Given the description of an element on the screen output the (x, y) to click on. 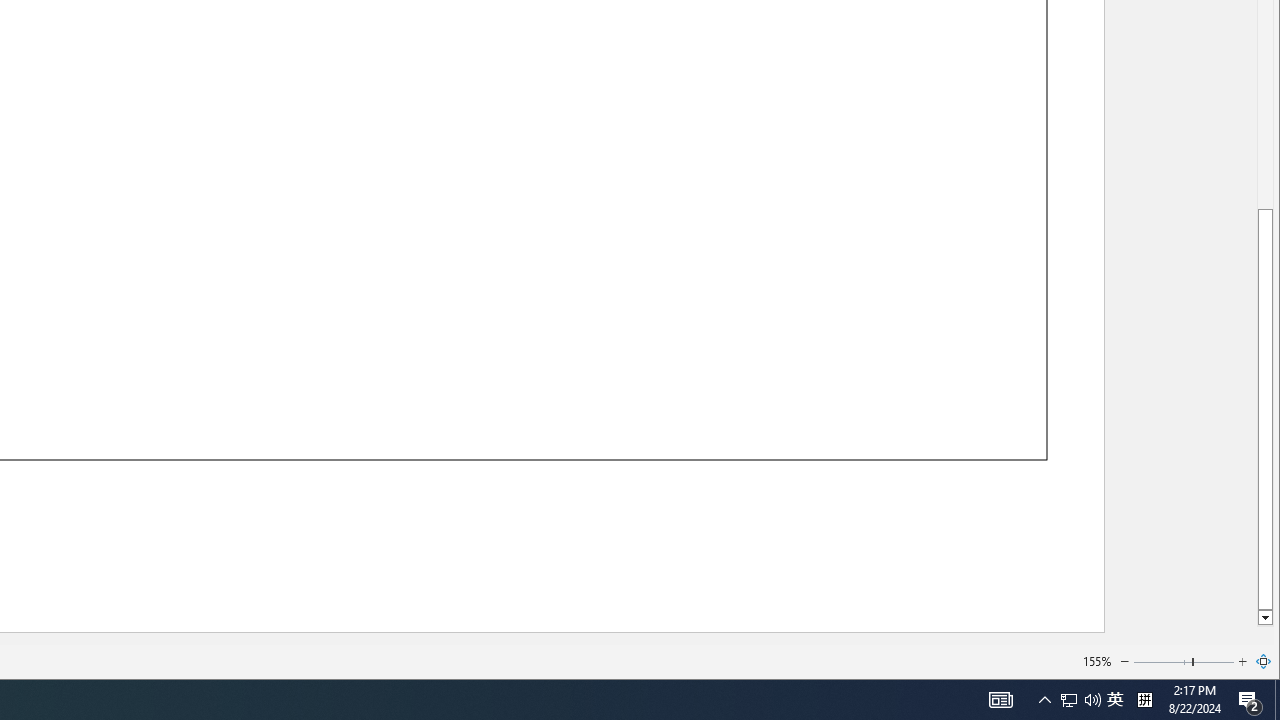
Zoom to Page (1263, 661)
AutomationID: 4105 (1000, 699)
User Promoted Notification Area (1080, 699)
Show desktop (1277, 699)
Page right (1214, 661)
Q2790: 100% (1092, 699)
155% (1096, 660)
Tray Input Indicator - Chinese (Simplified, China) (1144, 699)
Notification Chevron (1044, 699)
Page left (1162, 661)
